Given the description of an element on the screen output the (x, y) to click on. 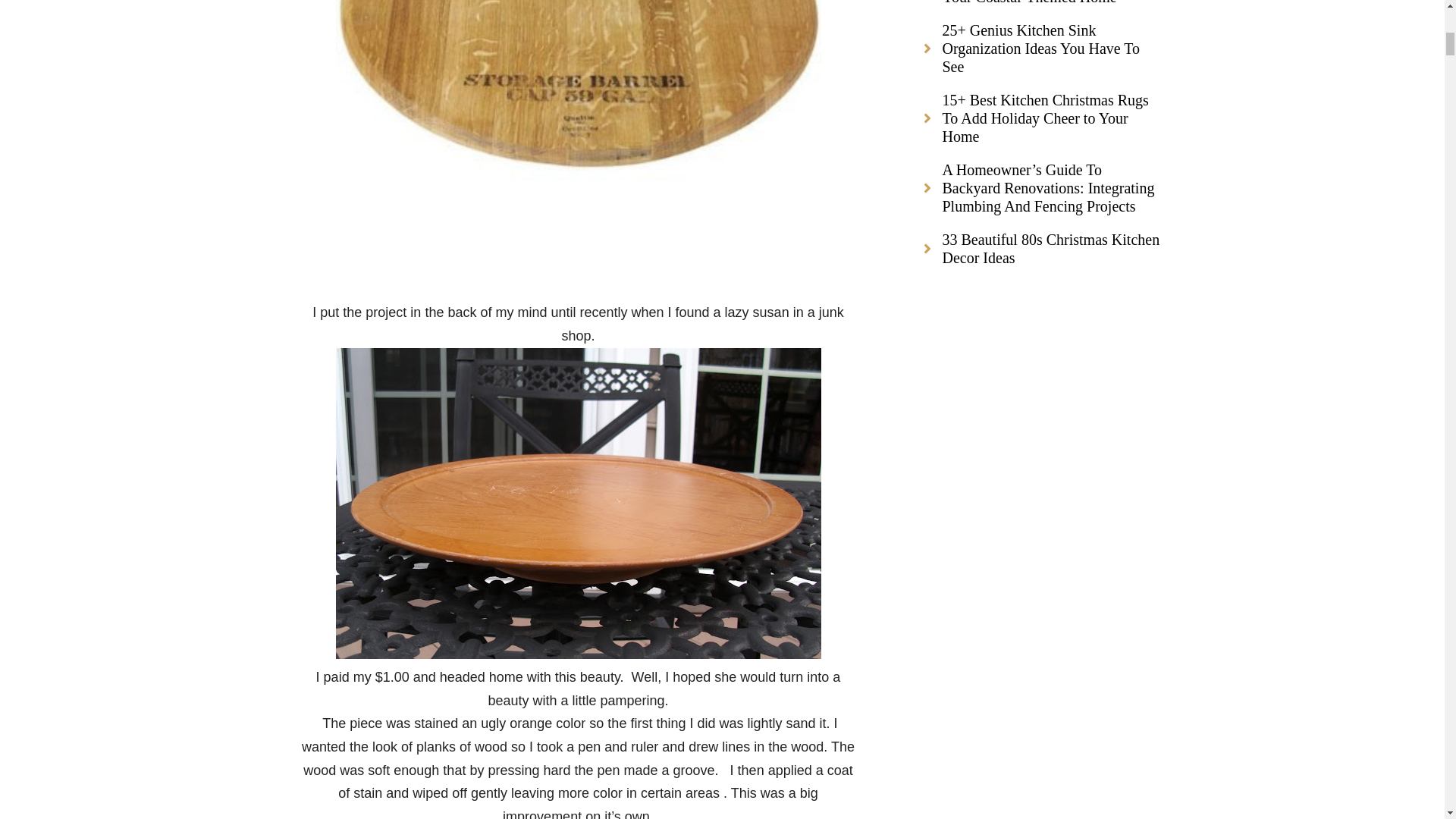
33 Beautiful 80s Christmas Kitchen Decor Ideas (1039, 255)
Adding A Touch Of Elegance To Your Coastal-Themed Home (1039, 10)
